Given the description of an element on the screen output the (x, y) to click on. 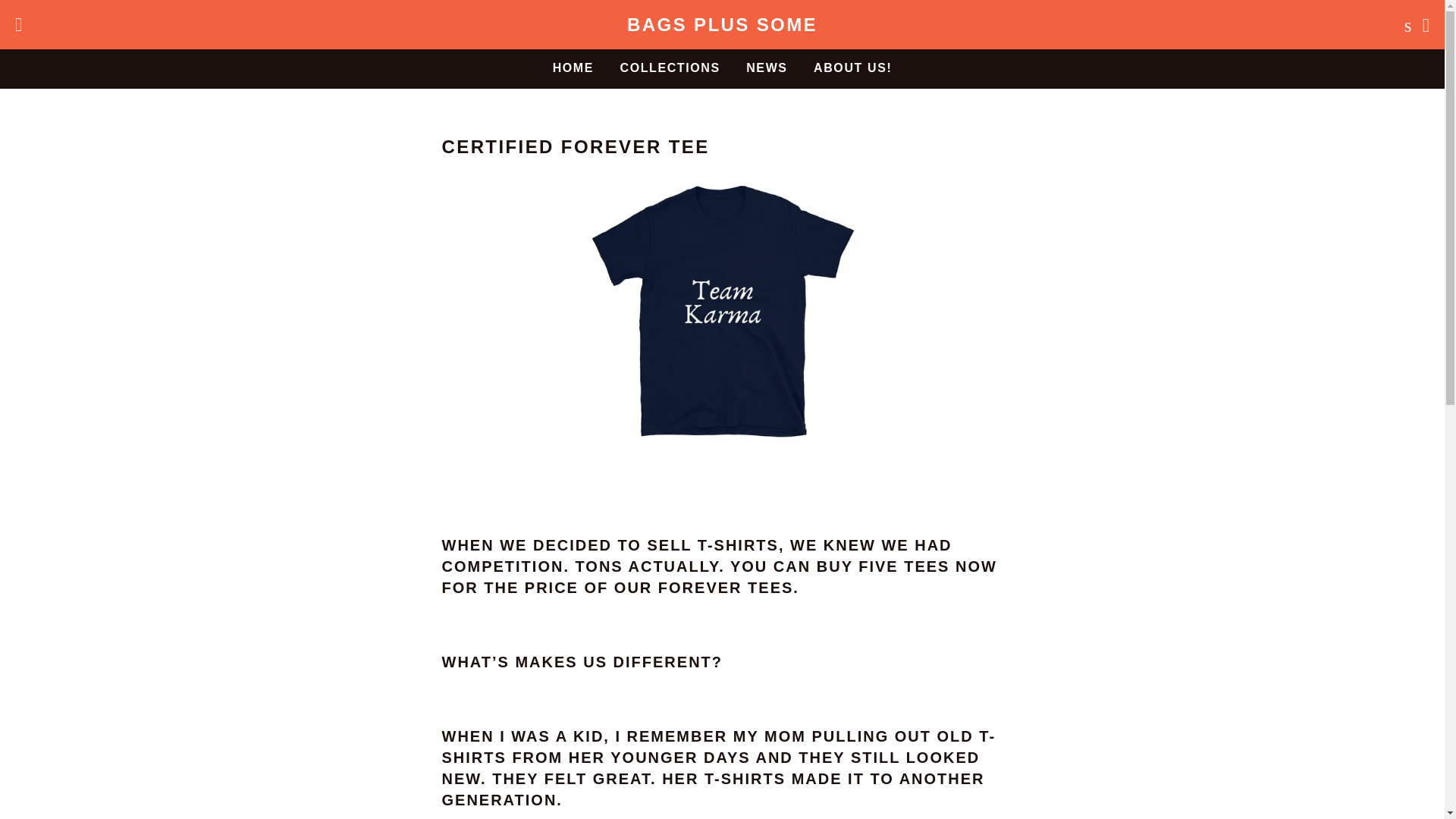
Menu (18, 24)
BAGS PLUS SOME (722, 24)
Cart (1426, 23)
Search (1404, 23)
ABOUT US! (852, 67)
HOME (573, 67)
COLLECTIONS (669, 67)
NEWS (766, 67)
